Given the description of an element on the screen output the (x, y) to click on. 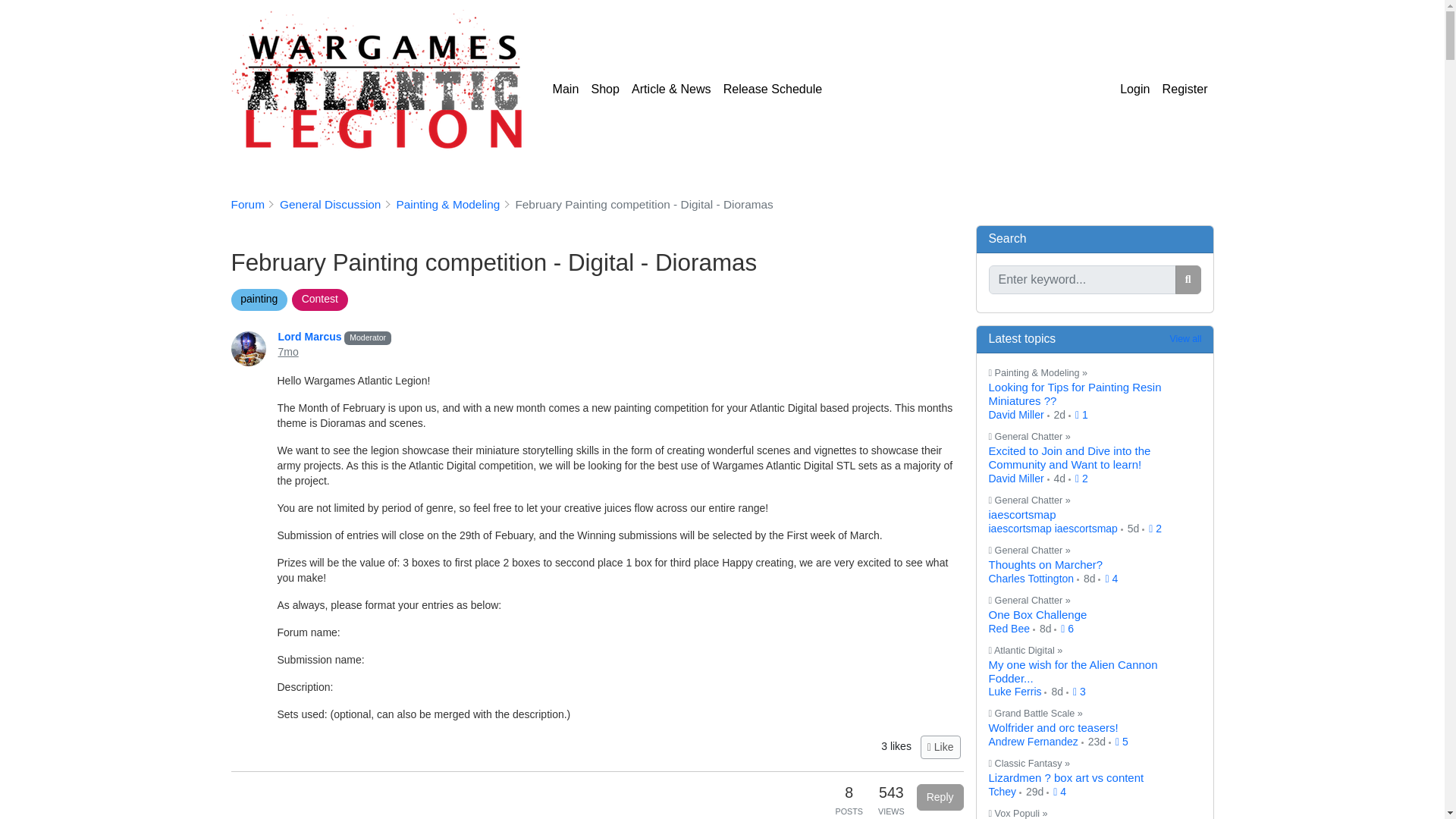
Like (940, 747)
7mo (288, 351)
Lord Marcus (310, 336)
Release Schedule (772, 89)
Main (565, 89)
Login (1134, 89)
Reply (940, 796)
painting (258, 298)
General Discussion (329, 204)
Forum (246, 204)
